Given the description of an element on the screen output the (x, y) to click on. 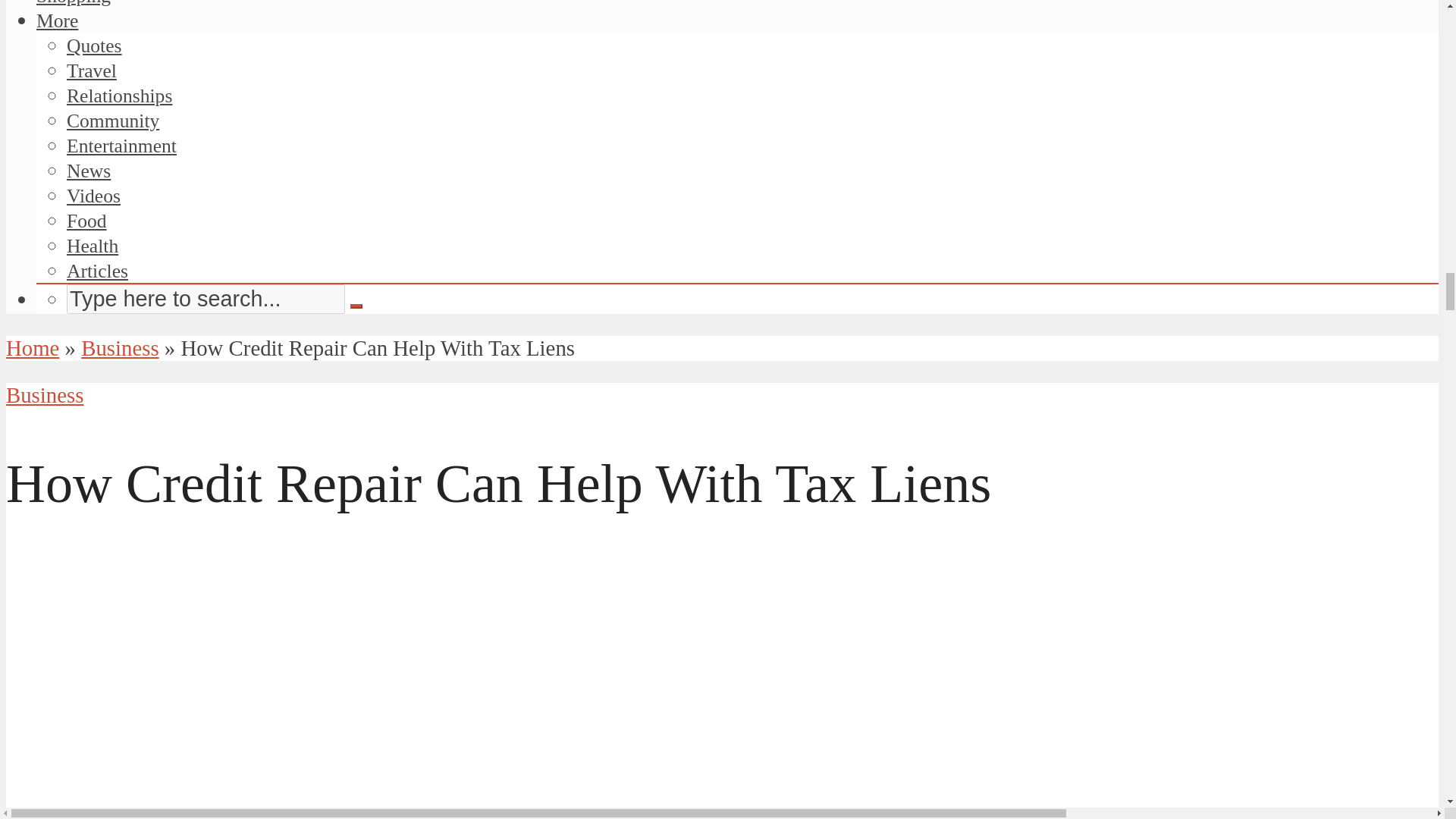
Type here to search... (205, 298)
Type here to search... (205, 298)
